Given the description of an element on the screen output the (x, y) to click on. 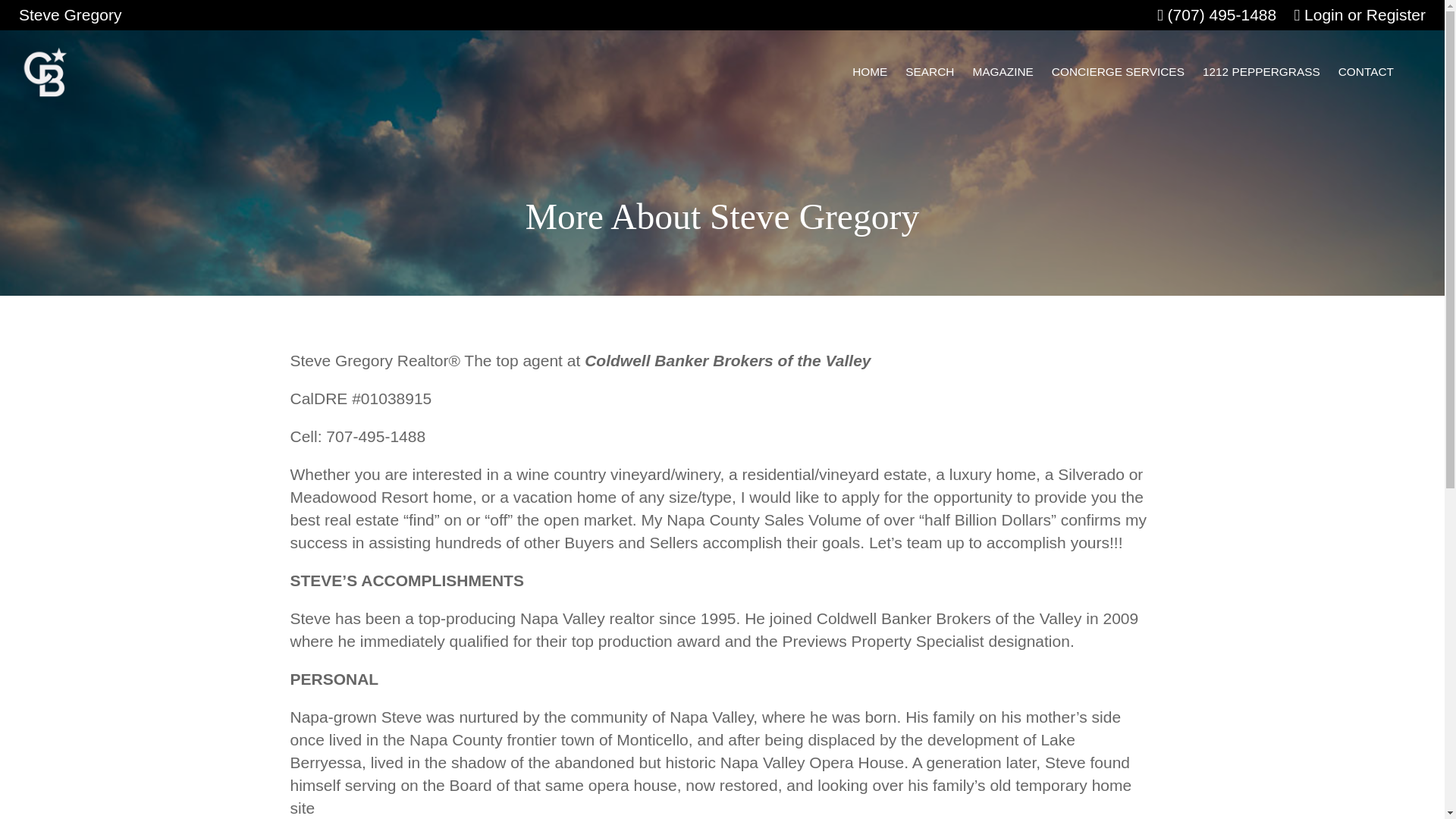
Find the right Agent, Mortgage or Title Officer for you. (1261, 71)
Find the perfect home, schedule showing times and more! (929, 71)
CONTACT (1366, 71)
CONCIERGE SERVICES (1117, 71)
SEARCH (929, 71)
MAGAZINE (1002, 71)
HOME (869, 71)
1212 PEPPERGRASS (1261, 71)
Login or Register (1359, 14)
Questions or comments?  Email, call, fax or write us. (1366, 71)
